Given the description of an element on the screen output the (x, y) to click on. 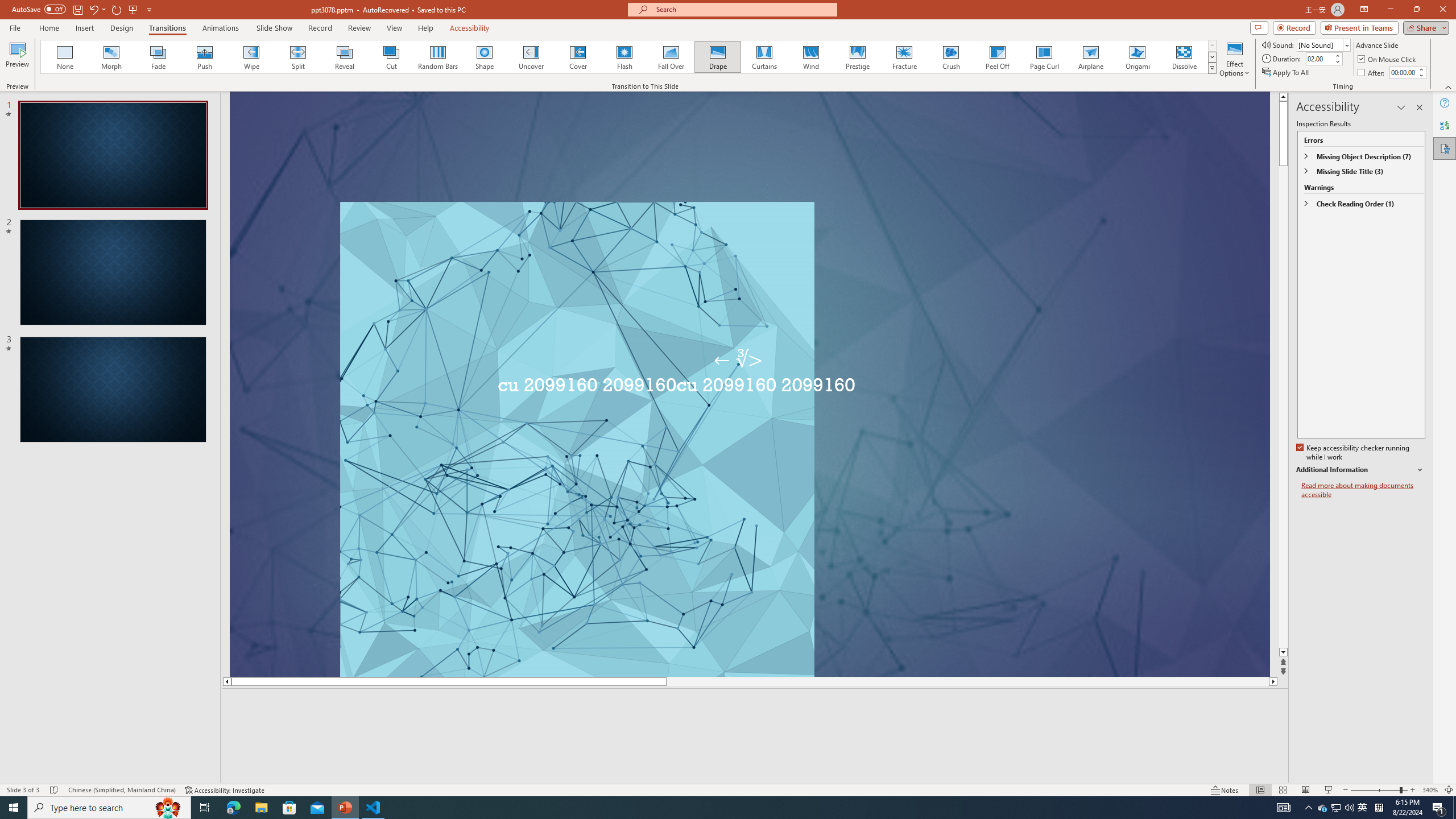
Sound (1324, 44)
Origami (1136, 56)
